Given the description of an element on the screen output the (x, y) to click on. 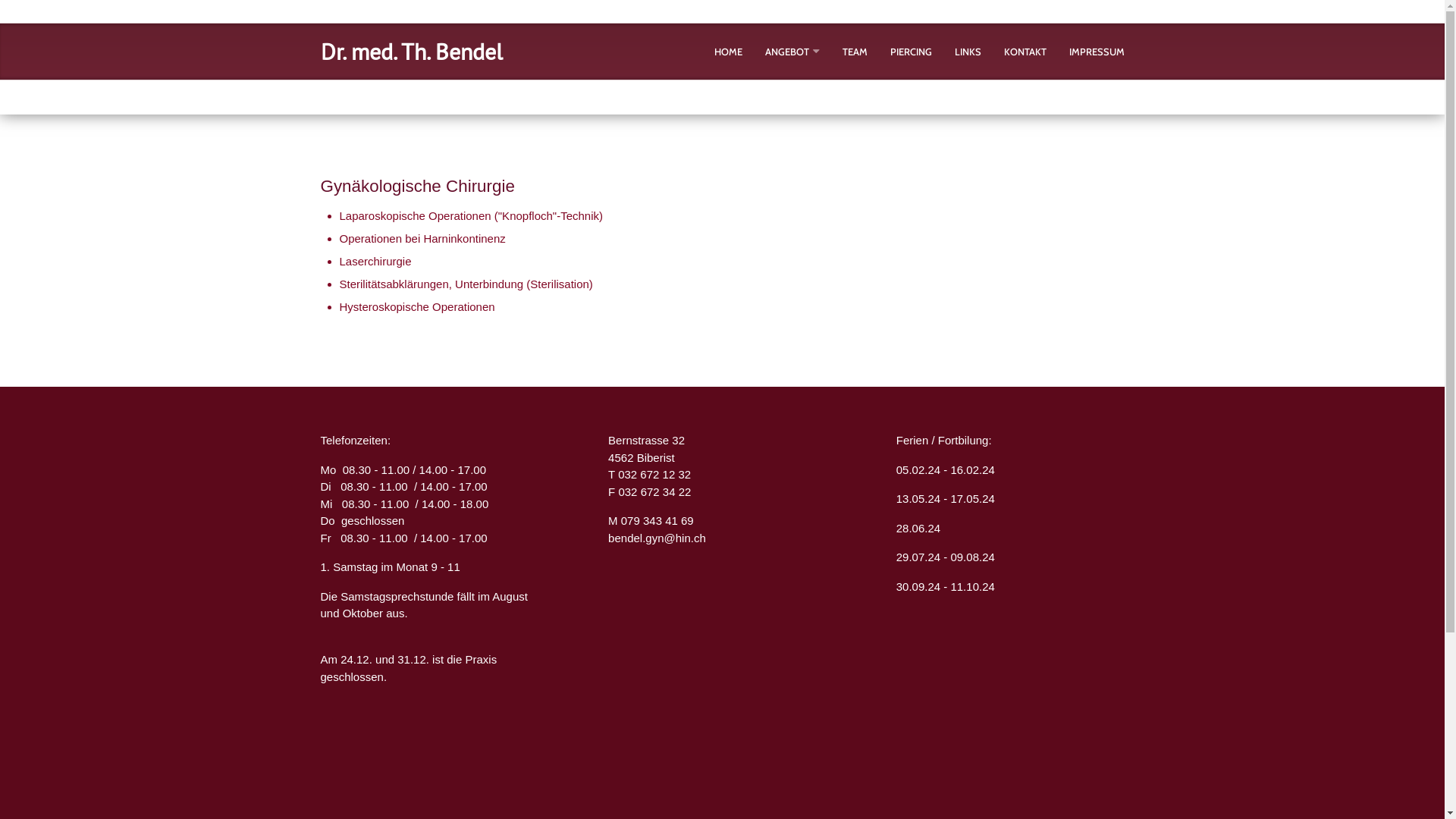
TEAM Element type: text (853, 51)
LINKS Element type: text (966, 51)
KONTAKT Element type: text (1025, 51)
bendel.gyn@hin.ch Element type: text (657, 537)
HOME Element type: text (728, 51)
Dr. med. Th. Bendel Element type: text (411, 50)
PIERCING Element type: text (910, 51)
IMPRESSUM Element type: text (1096, 51)
ANGEBOT Element type: text (786, 51)
